Given the description of an element on the screen output the (x, y) to click on. 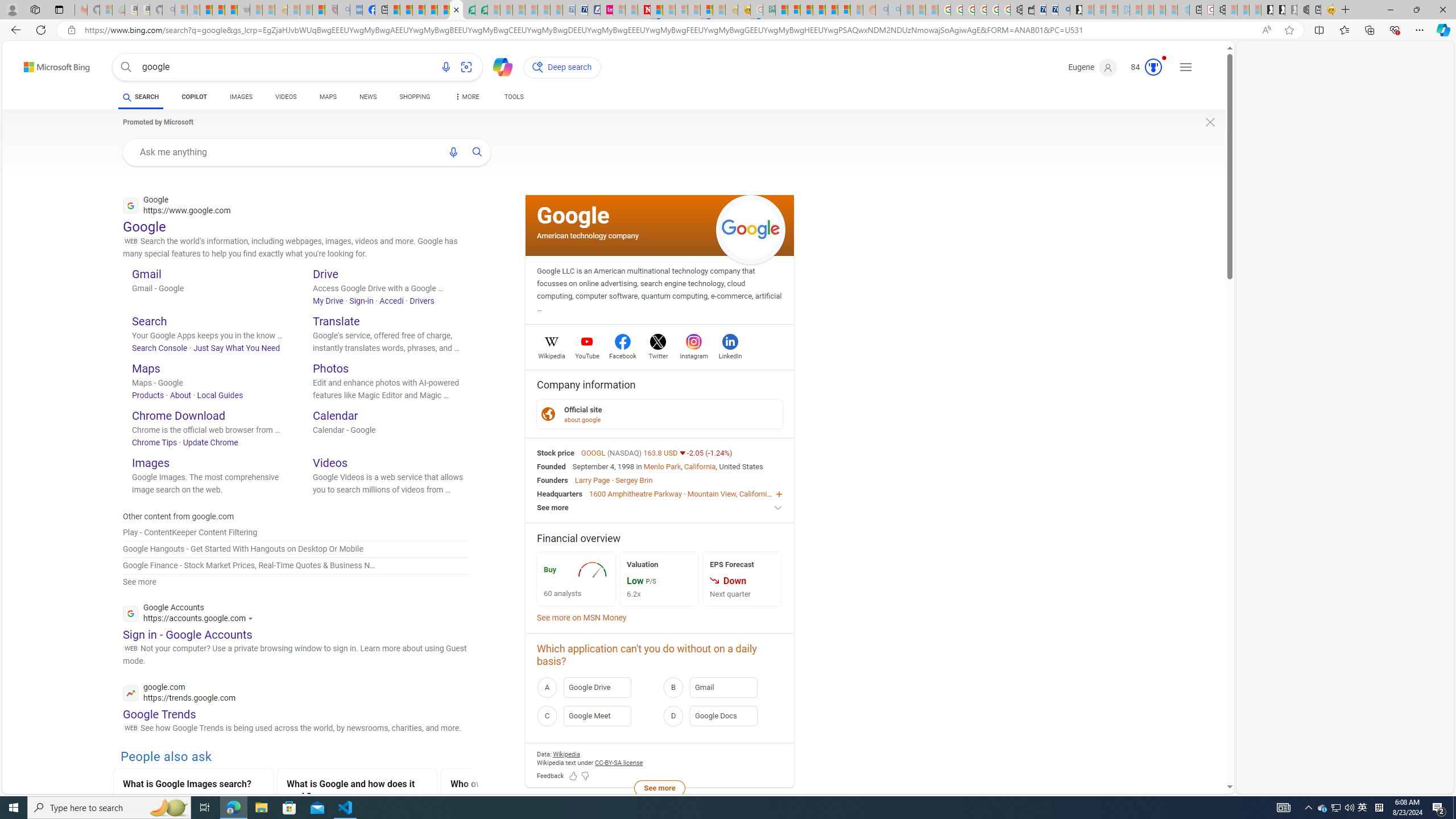
Products (148, 394)
Play - ContentKeeper Content Filtering (189, 532)
LinkedIn (729, 354)
Data attribution Wikipedia (566, 754)
C Google Meet (596, 715)
